Given the description of an element on the screen output the (x, y) to click on. 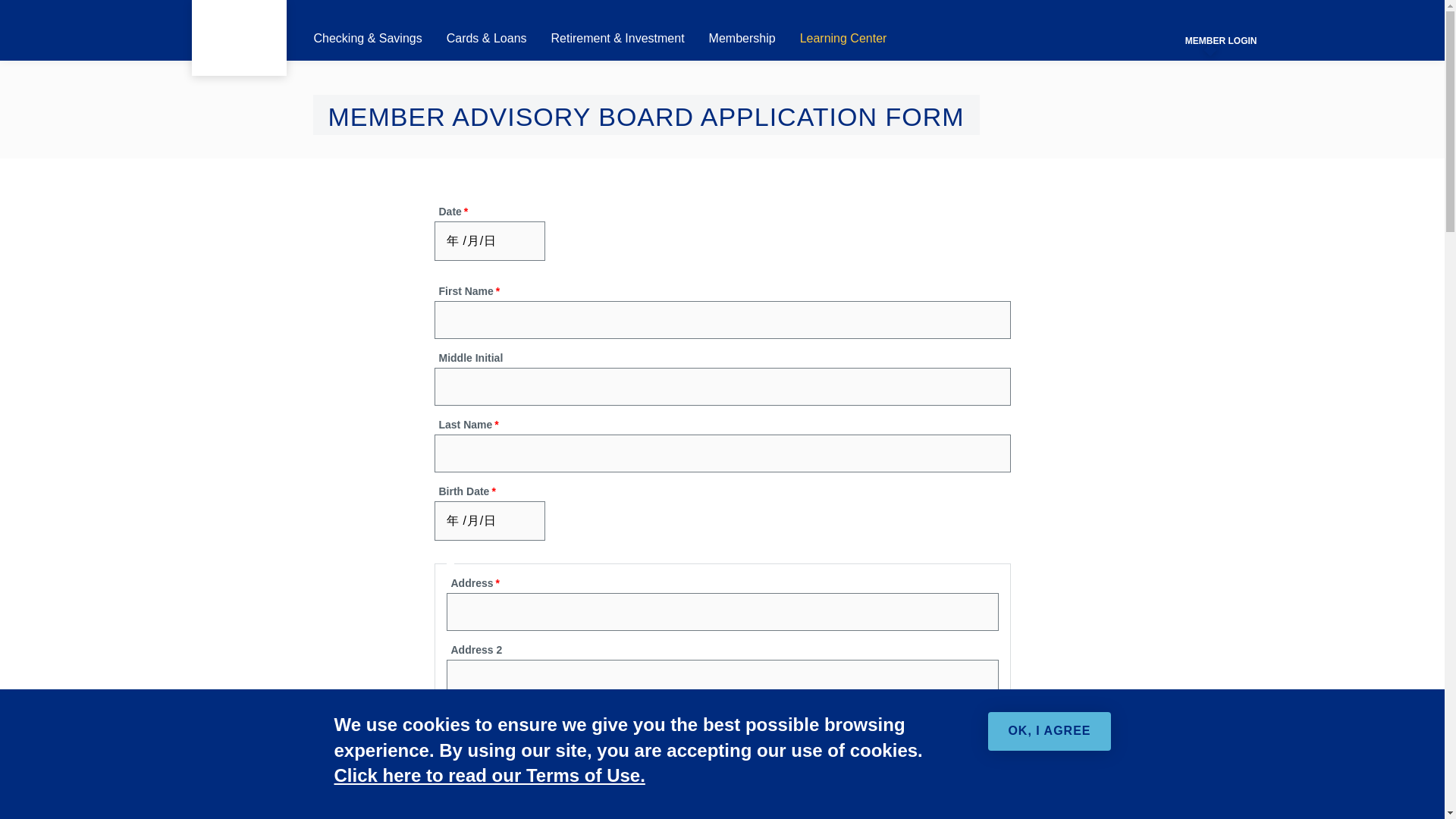
SAFE Federal Credit Union (237, 38)
Submit (976, 35)
